Given the description of an element on the screen output the (x, y) to click on. 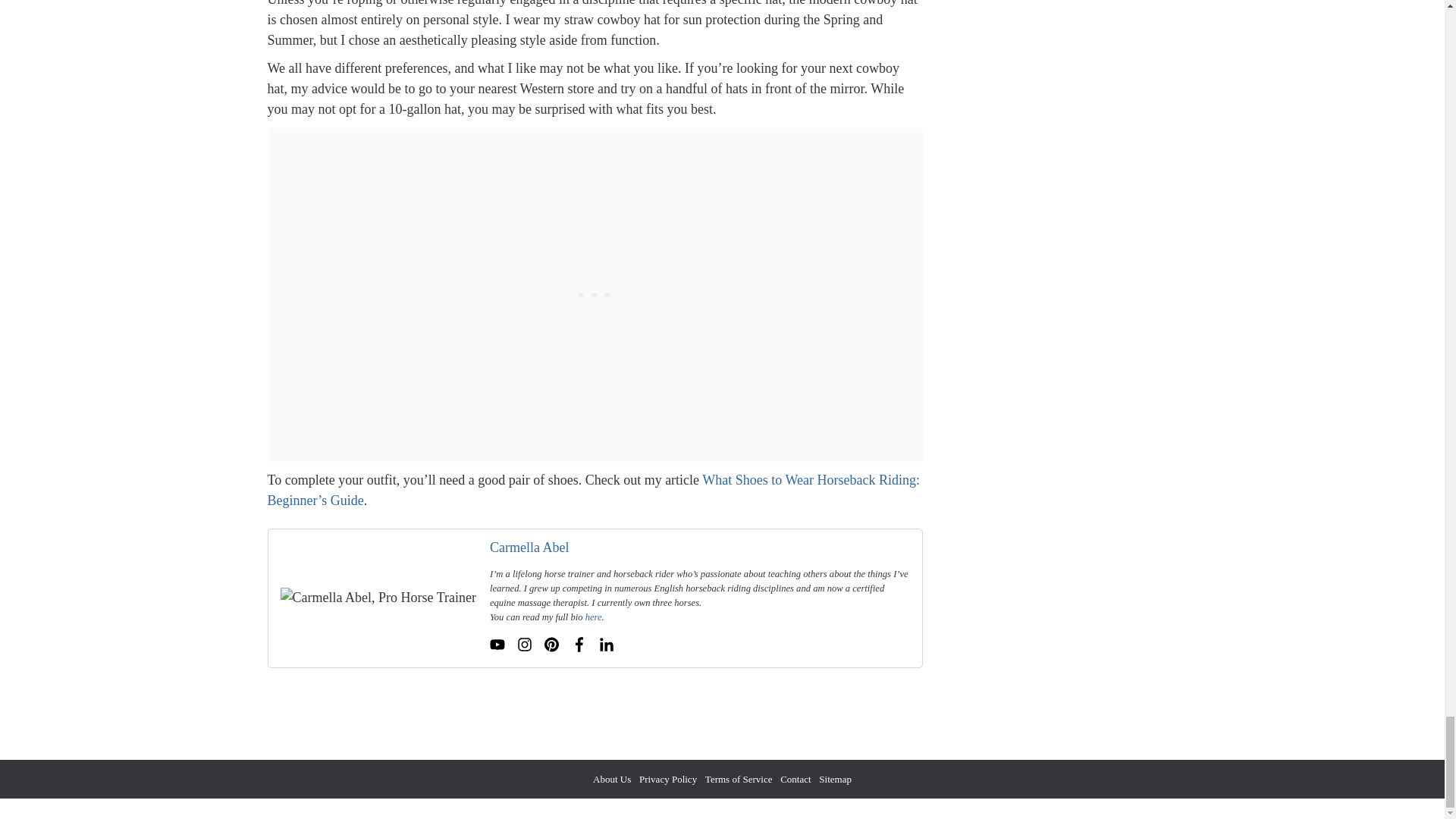
Instagram (524, 644)
Carmella Abel (529, 547)
Pinterest (551, 644)
Facebook (579, 644)
Linkedin (606, 644)
Youtube (497, 644)
here (593, 616)
